Given the description of an element on the screen output the (x, y) to click on. 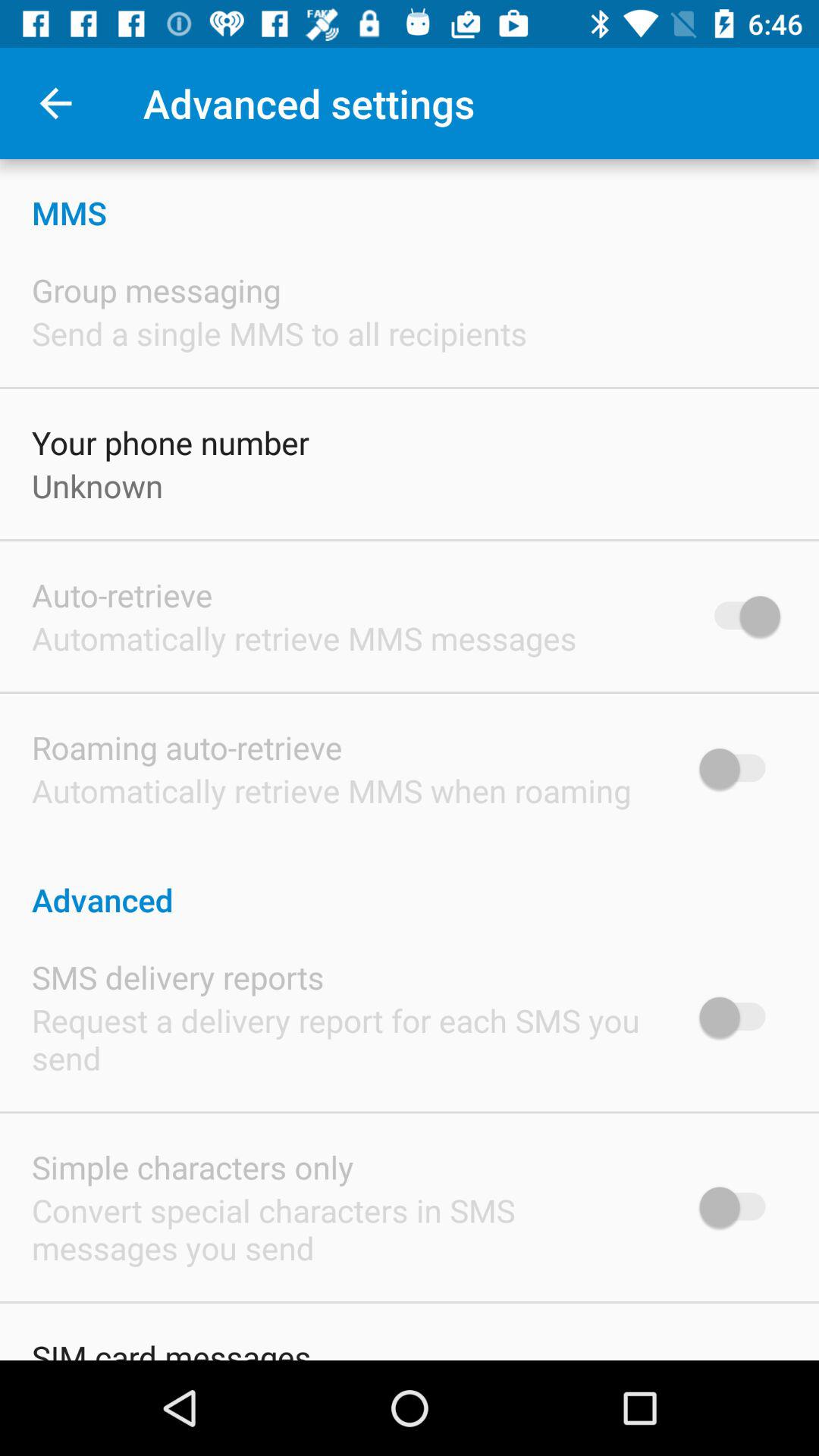
swipe to simple characters only icon (192, 1166)
